Given the description of an element on the screen output the (x, y) to click on. 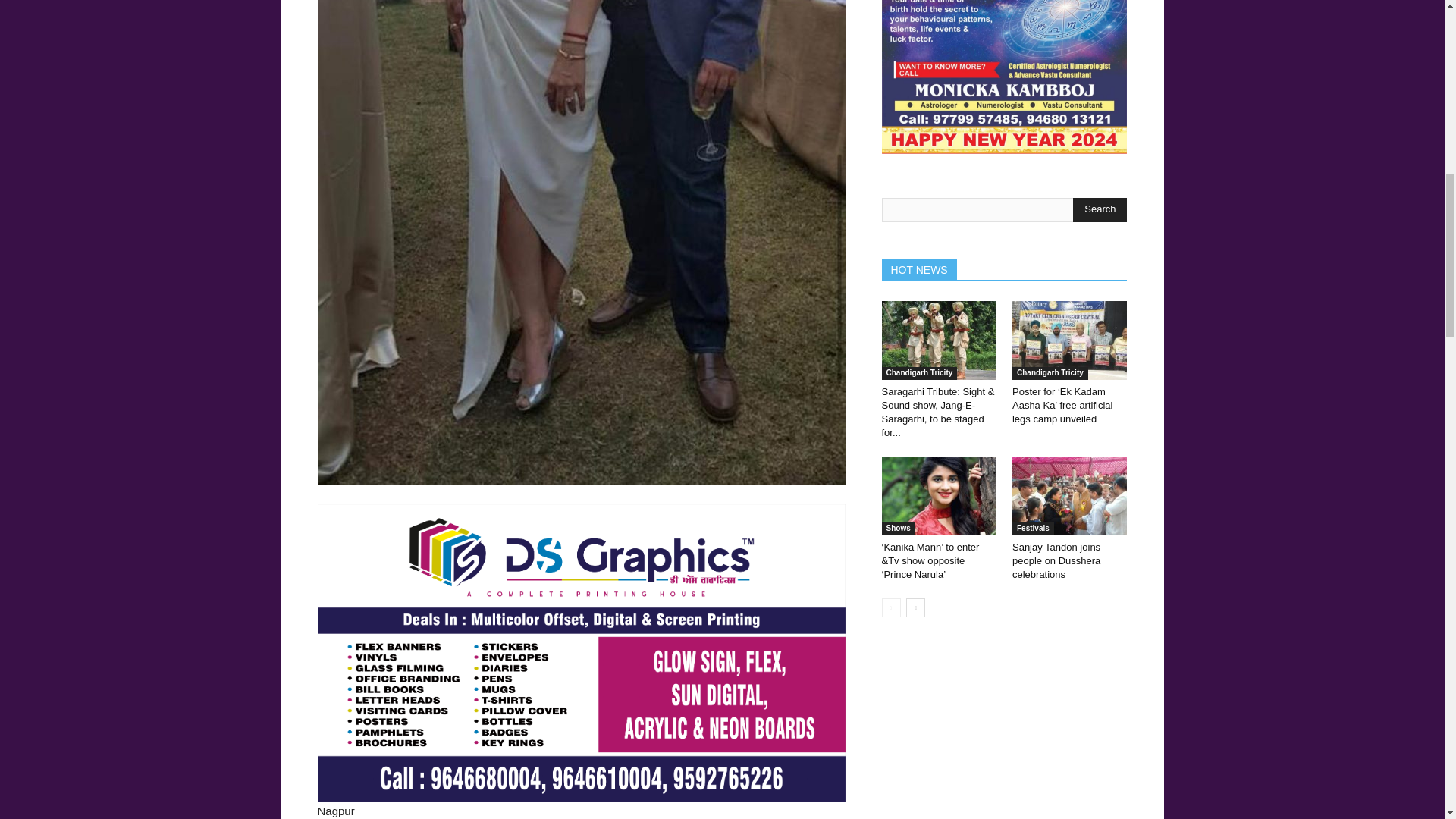
Search (1099, 209)
